Given the description of an element on the screen output the (x, y) to click on. 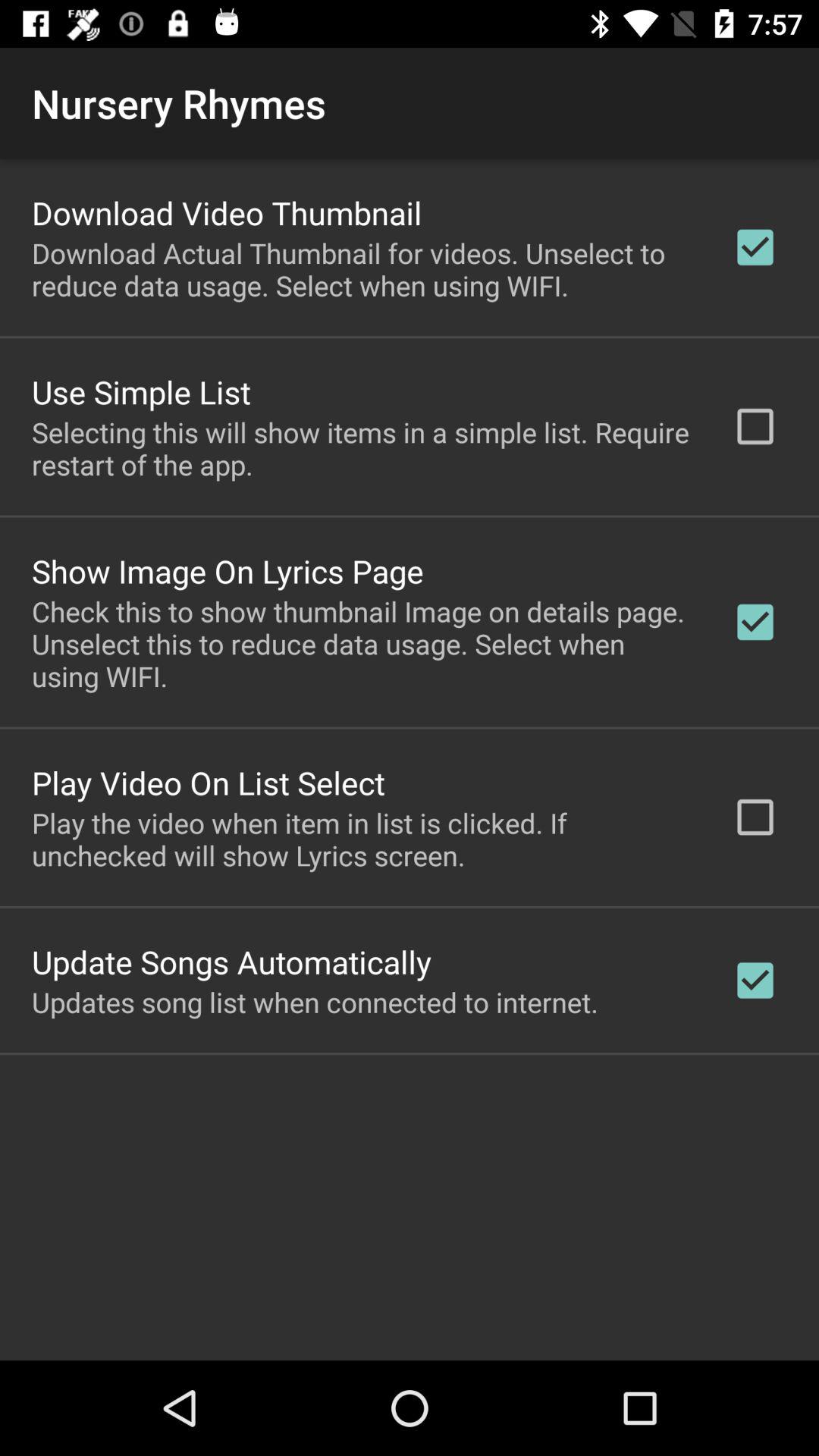
select the check this to icon (361, 643)
